Given the description of an element on the screen output the (x, y) to click on. 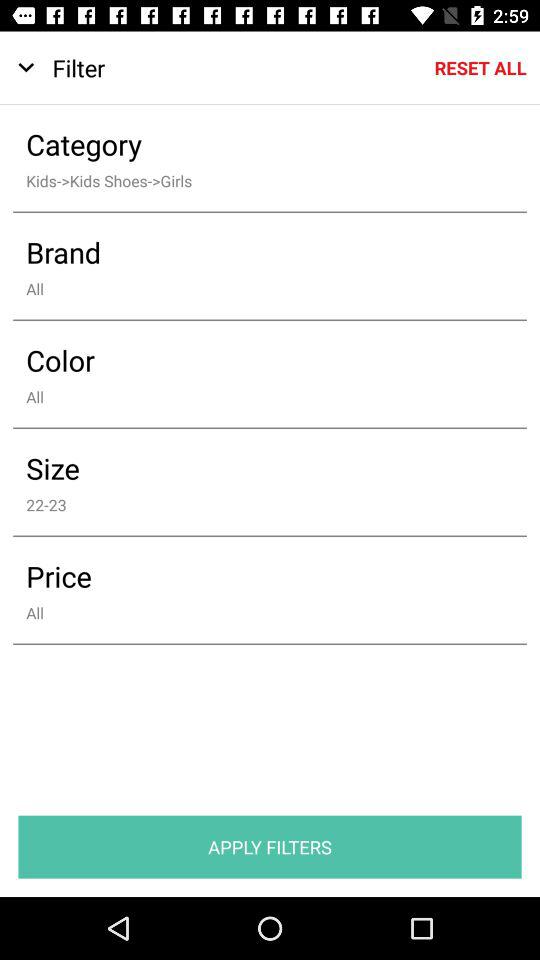
turn on the icon at the top right corner (480, 67)
